Given the description of an element on the screen output the (x, y) to click on. 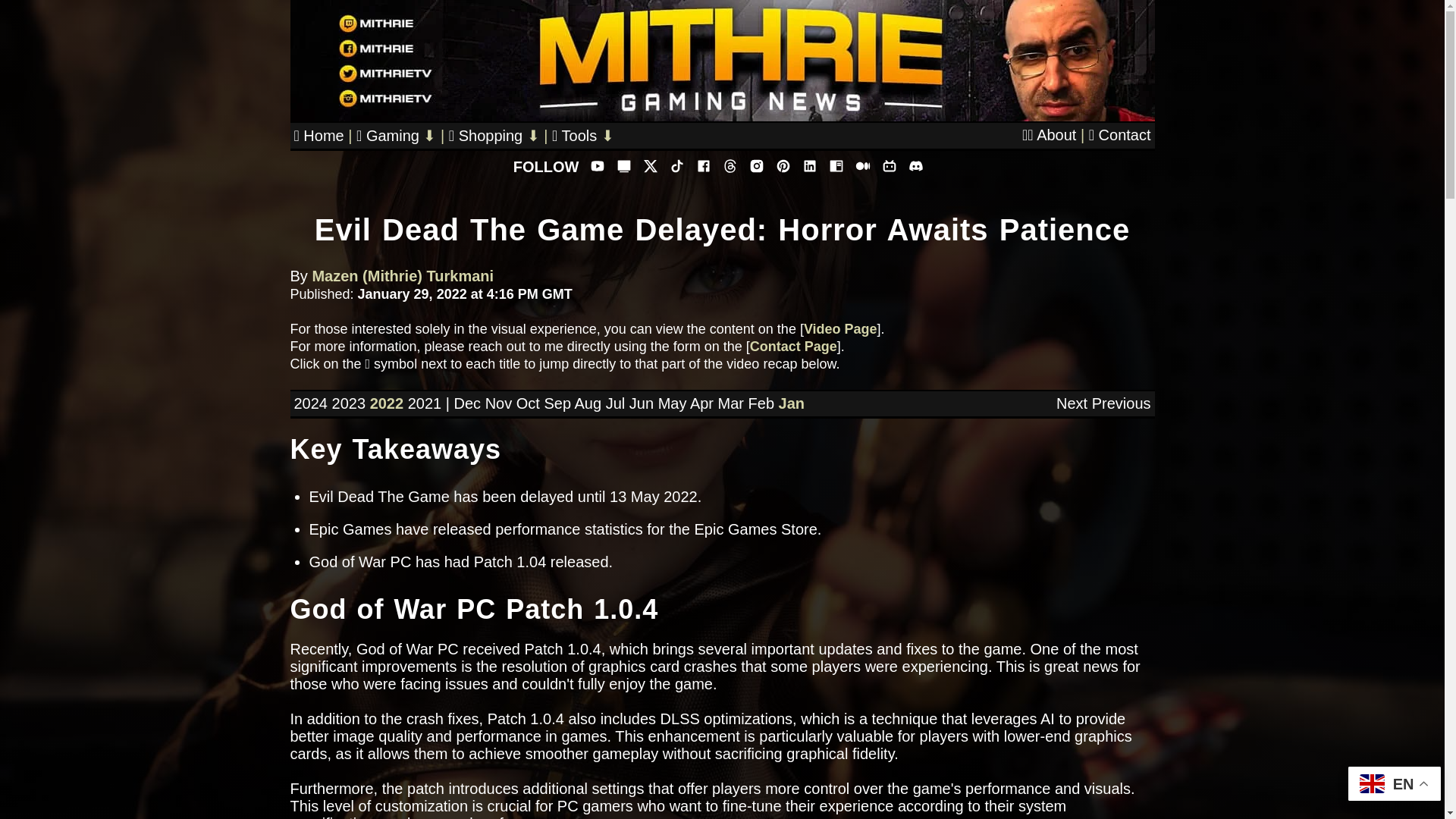
2023 (348, 402)
Dec (466, 402)
Contact Page (793, 346)
2021 (424, 402)
2024 (311, 402)
Video Page (840, 328)
